Given the description of an element on the screen output the (x, y) to click on. 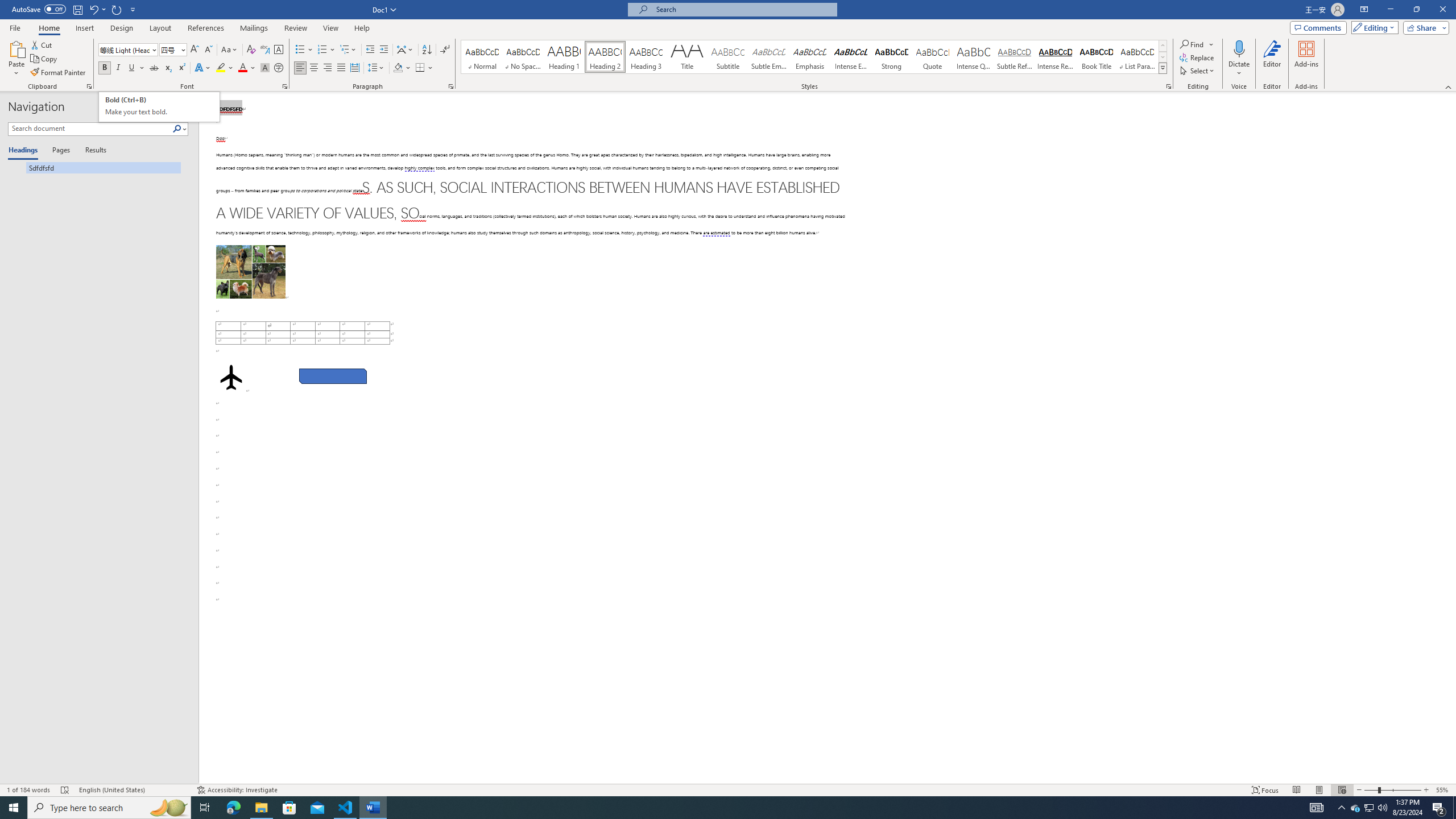
Paste (16, 58)
Spelling and Grammar Check Errors (65, 790)
Shrink Font (208, 49)
Character Shading (264, 67)
Collapse the Ribbon (1448, 86)
Center (313, 67)
Dictate (1238, 48)
Change Case (229, 49)
Mailings (253, 28)
Open (182, 49)
Dictate (1238, 58)
Grow Font (193, 49)
